Given the description of an element on the screen output the (x, y) to click on. 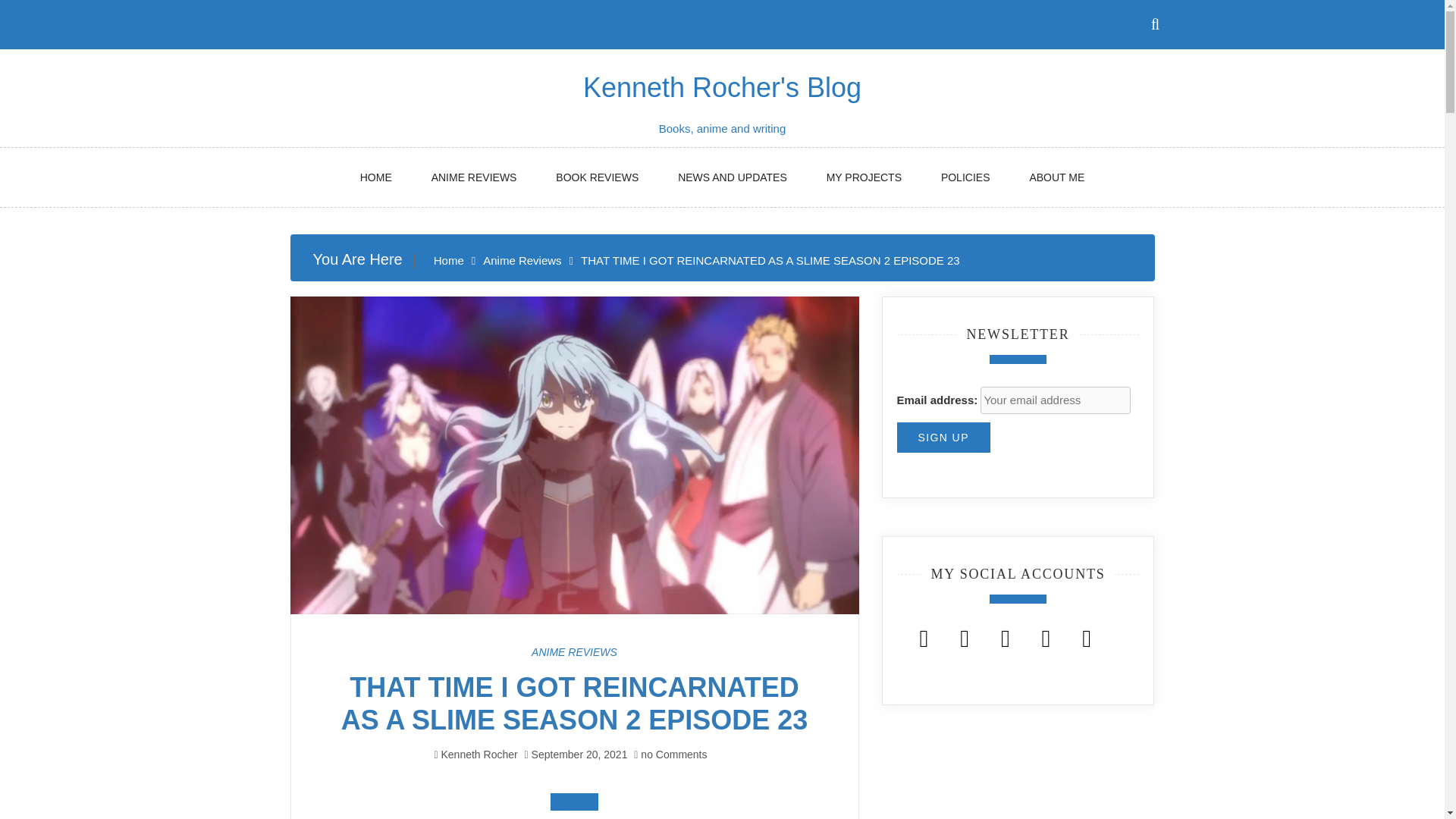
HOME (376, 177)
no Comments (669, 754)
September 20, 2021 (579, 754)
BOOK REVIEWS (596, 177)
ABOUT ME (1056, 177)
MY PROJECTS (864, 177)
POLICIES (966, 177)
Sign up (943, 437)
ANIME REVIEWS (574, 652)
ANIME REVIEWS (474, 177)
Posts by Kenneth Rocher (478, 754)
Home (448, 259)
Anime Reviews (521, 259)
Sign up (943, 437)
Kenneth Rocher's Blog (722, 87)
